Given the description of an element on the screen output the (x, y) to click on. 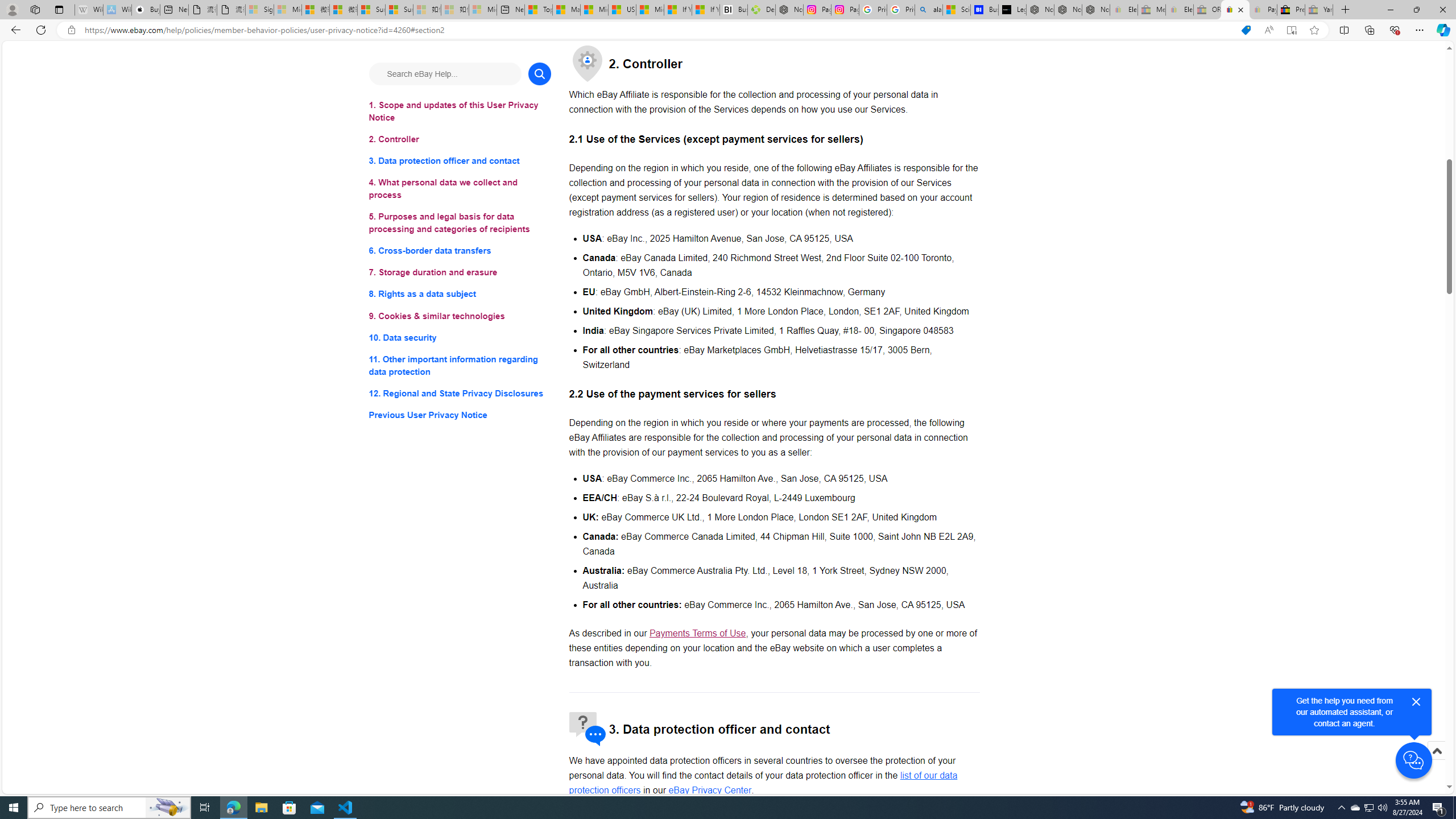
Yard, Garden & Outdoor Living - Sleeping (1319, 9)
Payments Terms of Use - opens in new window or tab (697, 633)
4. What personal data we collect and process (459, 189)
2. Controller (459, 138)
